Given the description of an element on the screen output the (x, y) to click on. 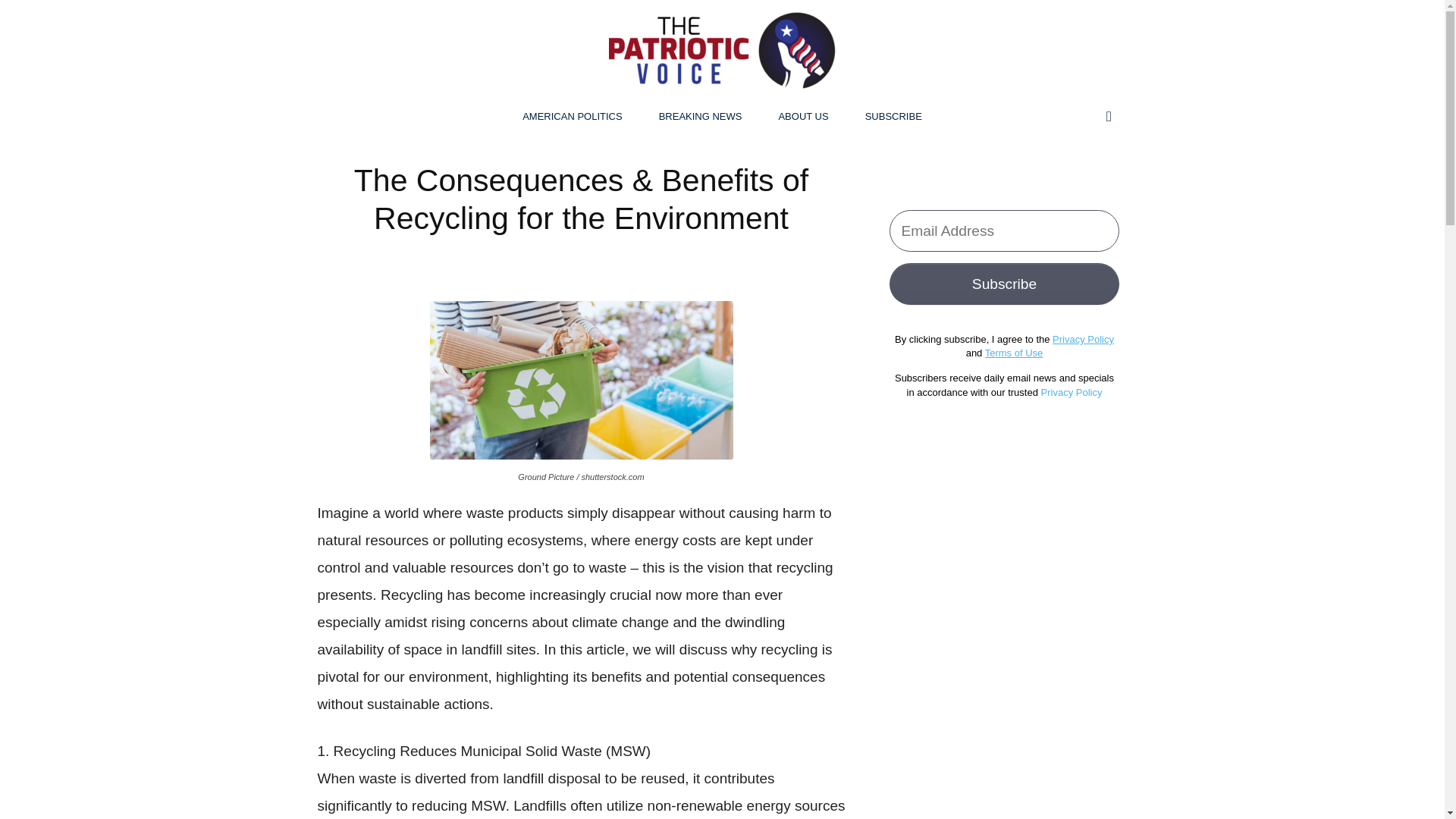
Subscribe (1003, 283)
ABOUT US (802, 116)
Subscribe (1003, 283)
Privacy Policy (1071, 392)
Search (1077, 177)
AMERICAN POLITICS (571, 116)
Terms of Use (1014, 352)
Privacy Policy (1082, 338)
BREAKING NEWS (700, 116)
SUBSCRIBE (893, 116)
